Given the description of an element on the screen output the (x, y) to click on. 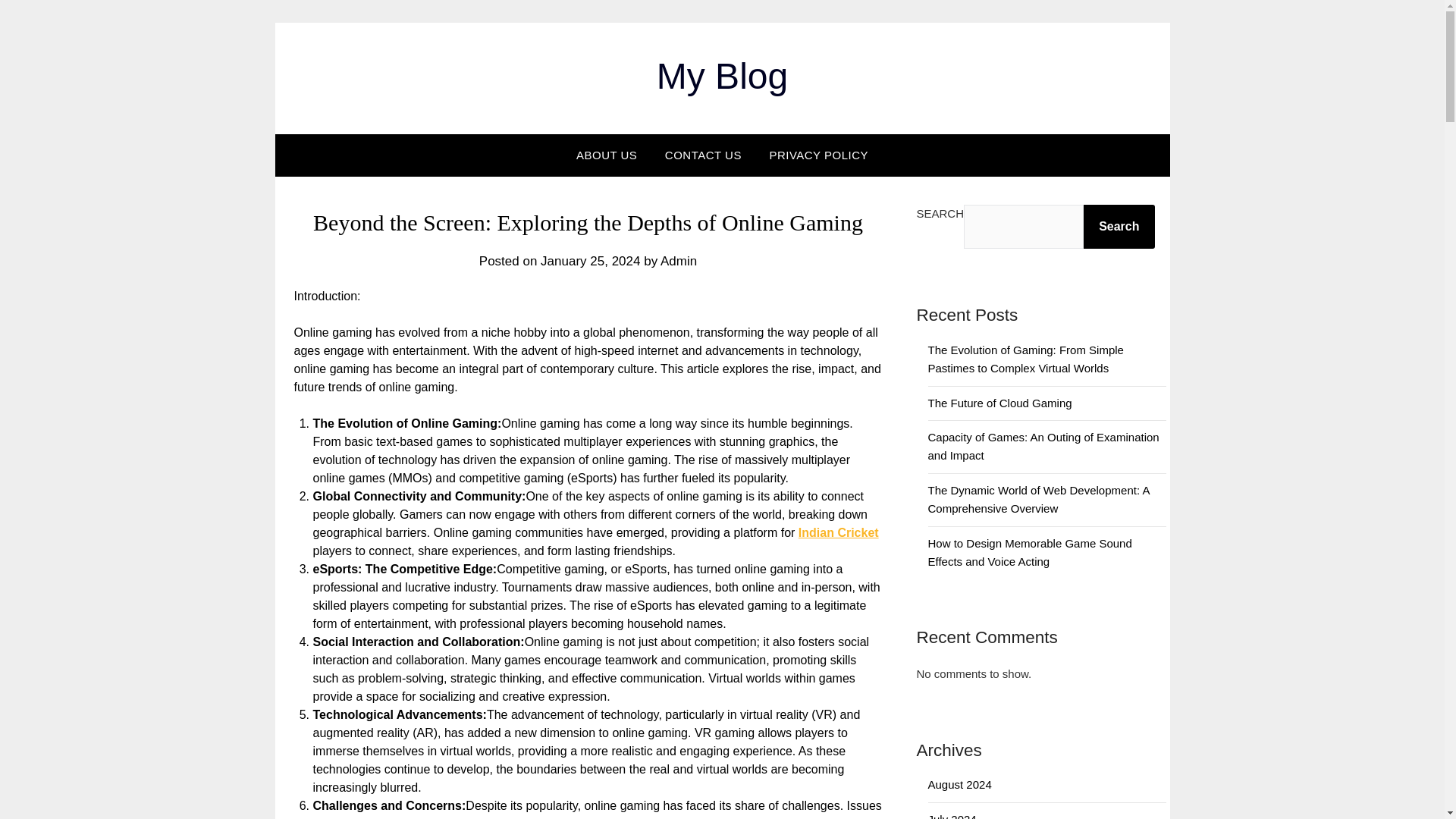
PRIVACY POLICY (818, 155)
My Blog (721, 76)
How to Design Memorable Game Sound Effects and Voice Acting (1030, 552)
Capacity of Games: An Outing of Examination and Impact (1043, 445)
CONTACT US (703, 155)
Admin (679, 260)
July 2024 (952, 816)
The Future of Cloud Gaming (999, 402)
